Given the description of an element on the screen output the (x, y) to click on. 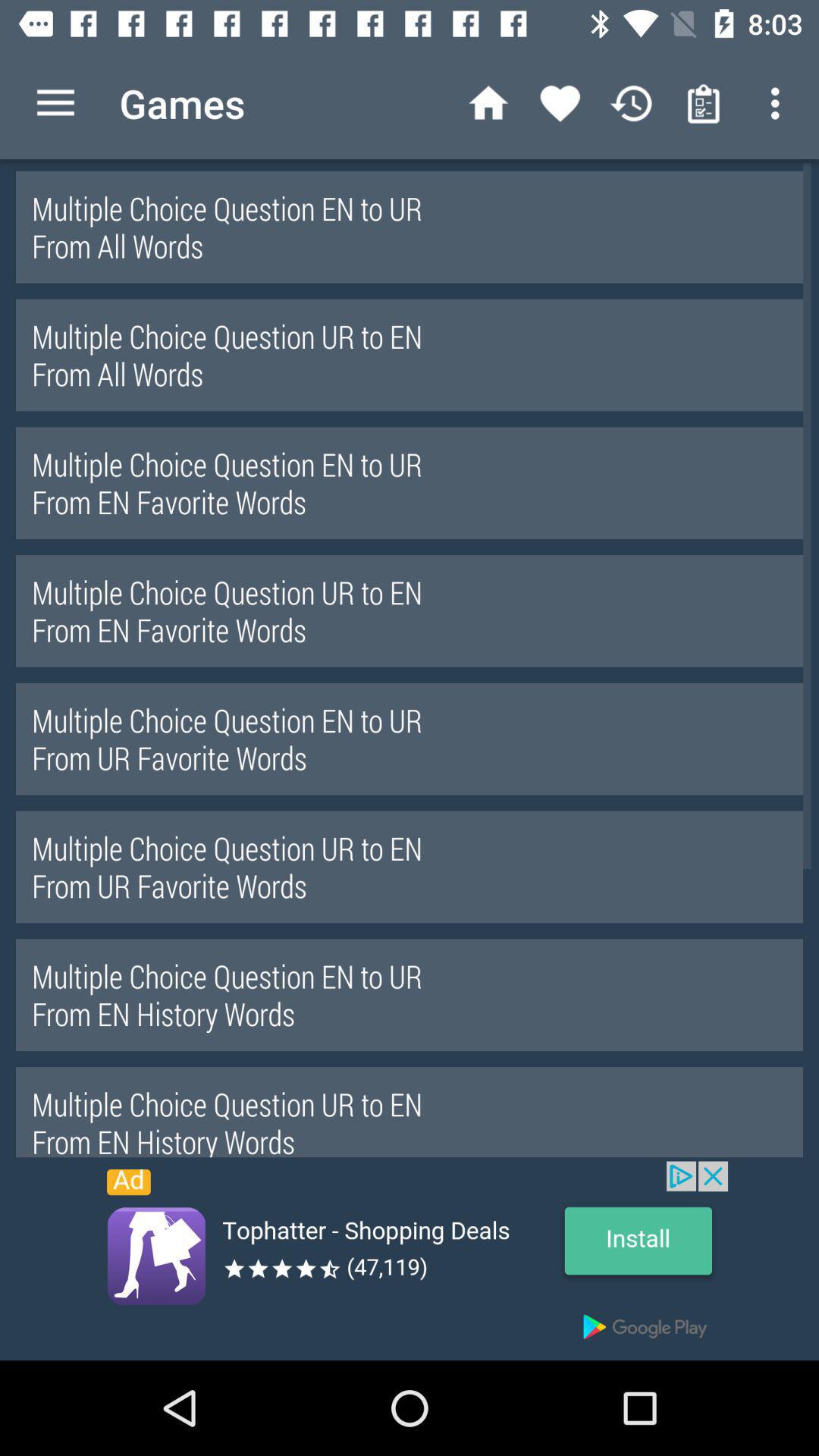
app advertisement (409, 1260)
